Given the description of an element on the screen output the (x, y) to click on. 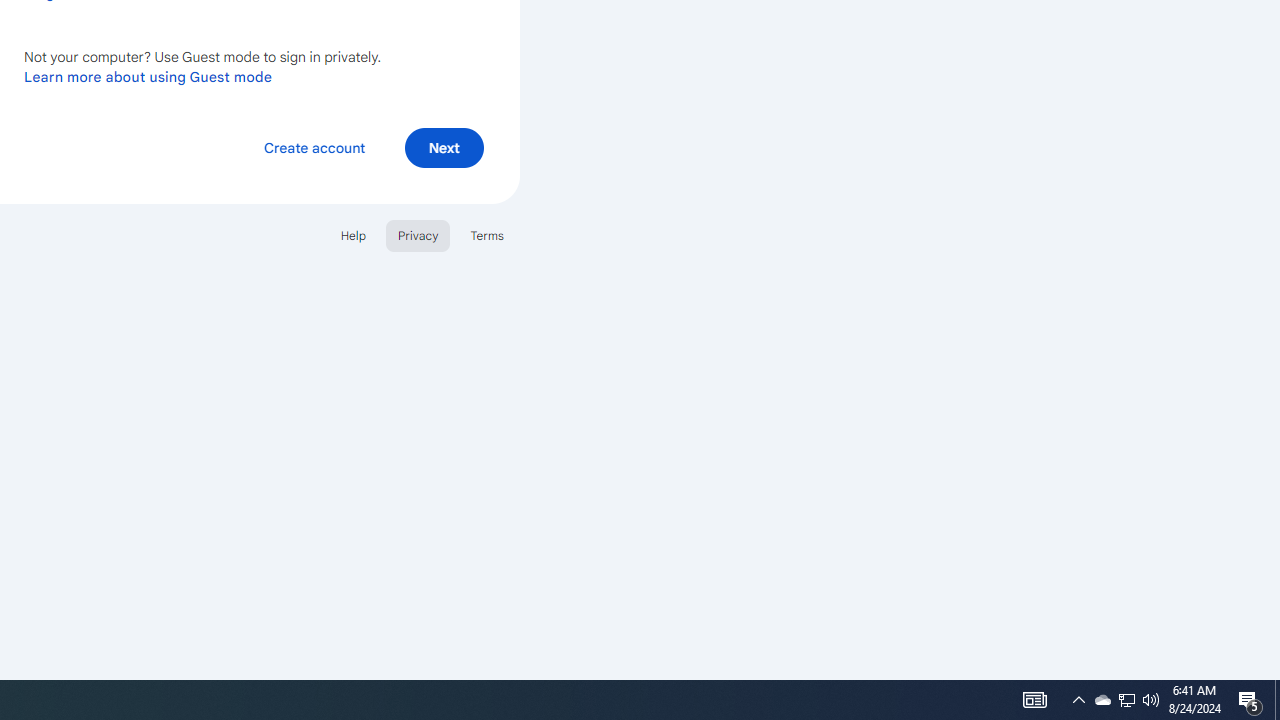
Create account (314, 146)
Learn more about using Guest mode (148, 76)
